Given the description of an element on the screen output the (x, y) to click on. 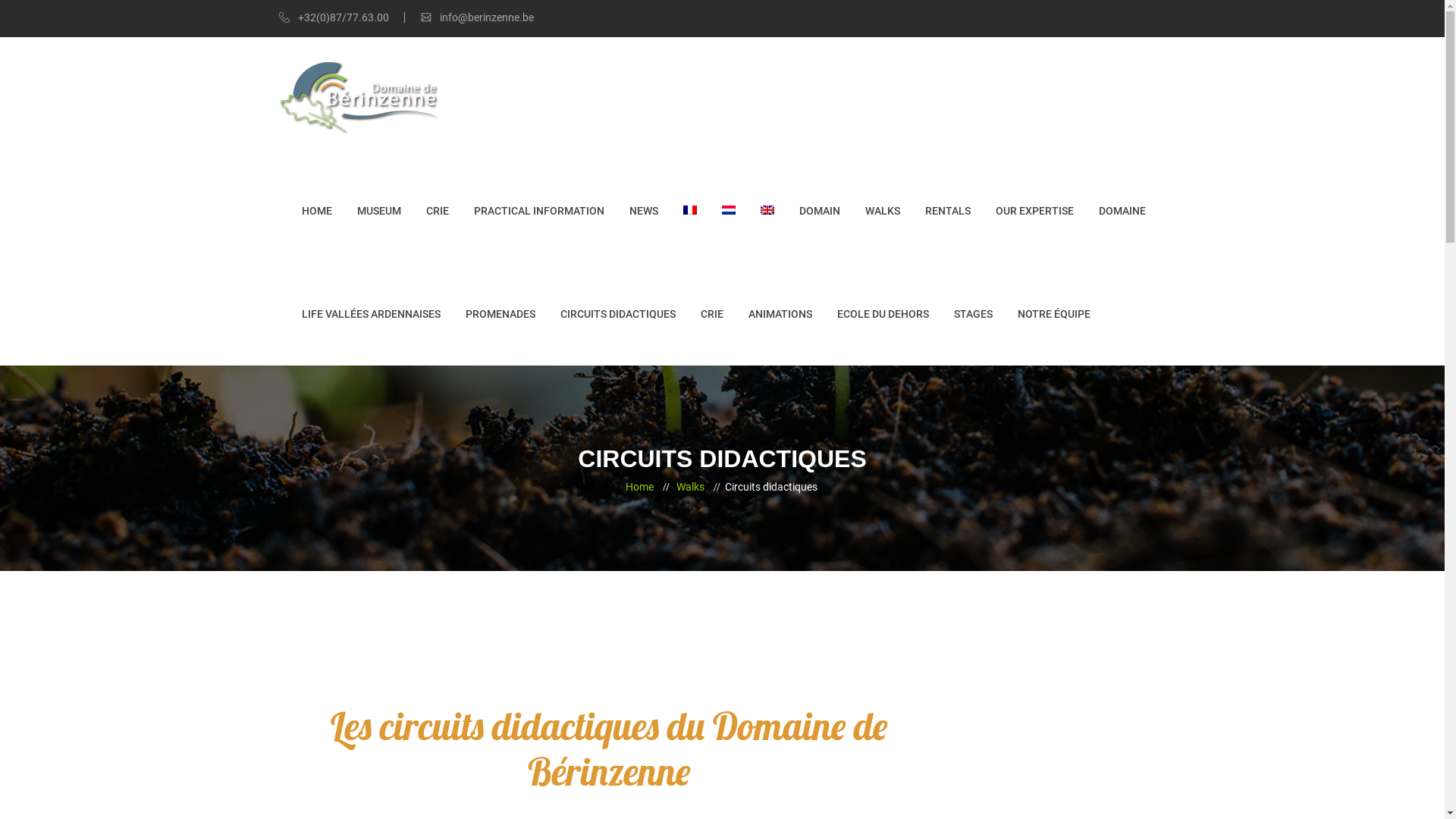
WALKS Element type: text (881, 210)
STAGES Element type: text (972, 313)
CIRCUITS DIDACTIQUES Element type: text (616, 313)
MUSEUM Element type: text (378, 210)
RENTALS Element type: text (947, 210)
PRACTICAL INFORMATION Element type: text (538, 210)
OUR EXPERTISE Element type: text (1033, 210)
Home Element type: text (638, 487)
ANIMATIONS Element type: text (779, 313)
HOME Element type: text (316, 210)
CRIE Element type: text (711, 313)
ECOLE DU DEHORS Element type: text (882, 313)
CRIE Element type: text (437, 210)
DOMAINE Element type: text (1121, 210)
NEWS Element type: text (643, 210)
PROMENADES Element type: text (500, 313)
DOMAIN Element type: text (819, 210)
Walks Element type: text (690, 487)
